Given the description of an element on the screen output the (x, y) to click on. 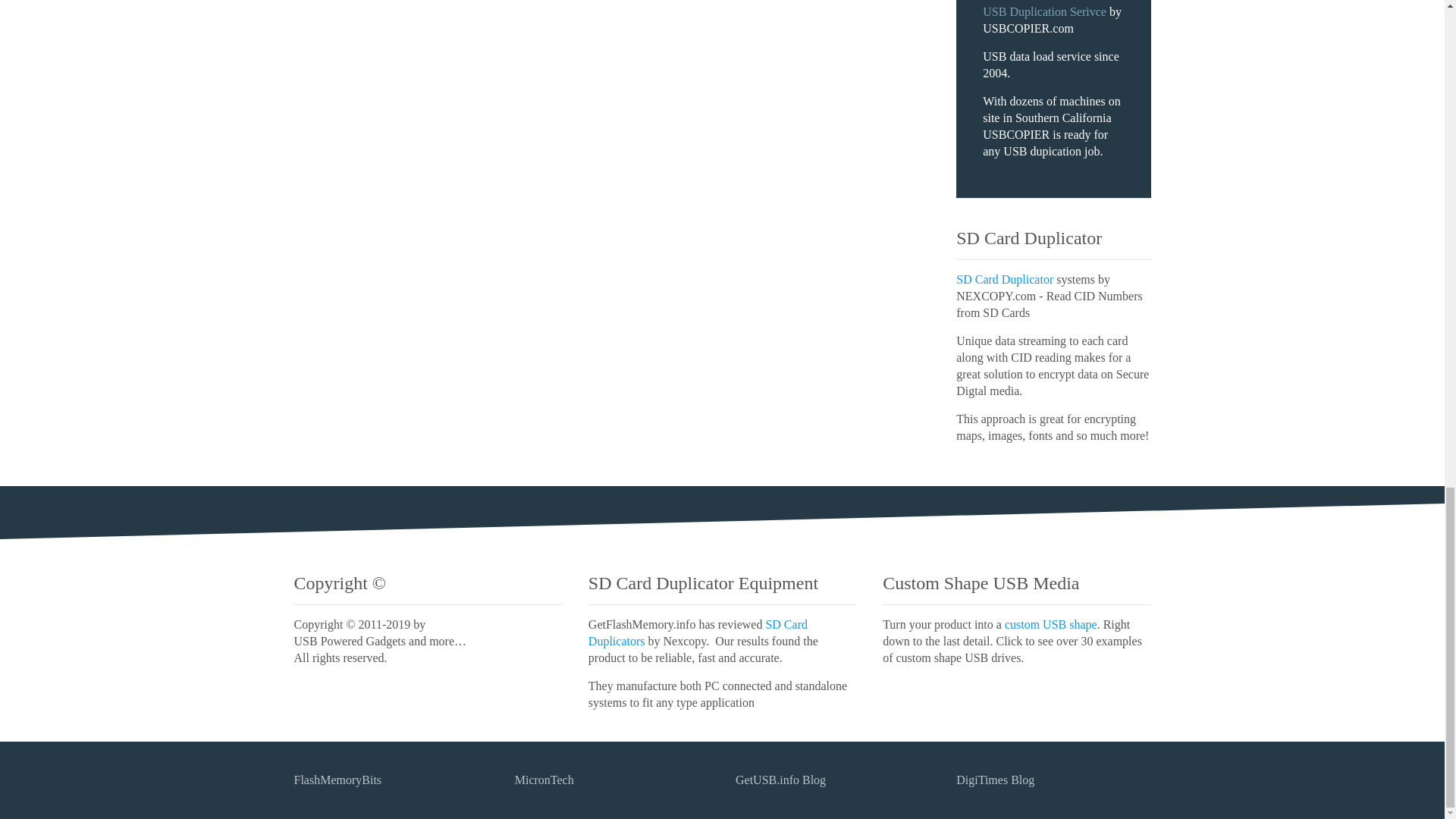
MicronTech (544, 779)
SD Card Duplicator (1004, 278)
SD Card Duplicator (1004, 278)
custom USB shape (1050, 624)
USB Duplication Serivce (1044, 11)
SD card duplicator (698, 632)
USB flashdrive (1050, 624)
DigiTimes Blog (994, 779)
USB Duplication Service (1044, 11)
FlashMemoryBits (337, 779)
SD Card Duplicators (698, 632)
GetUSB.info Blog (780, 779)
